Given the description of an element on the screen output the (x, y) to click on. 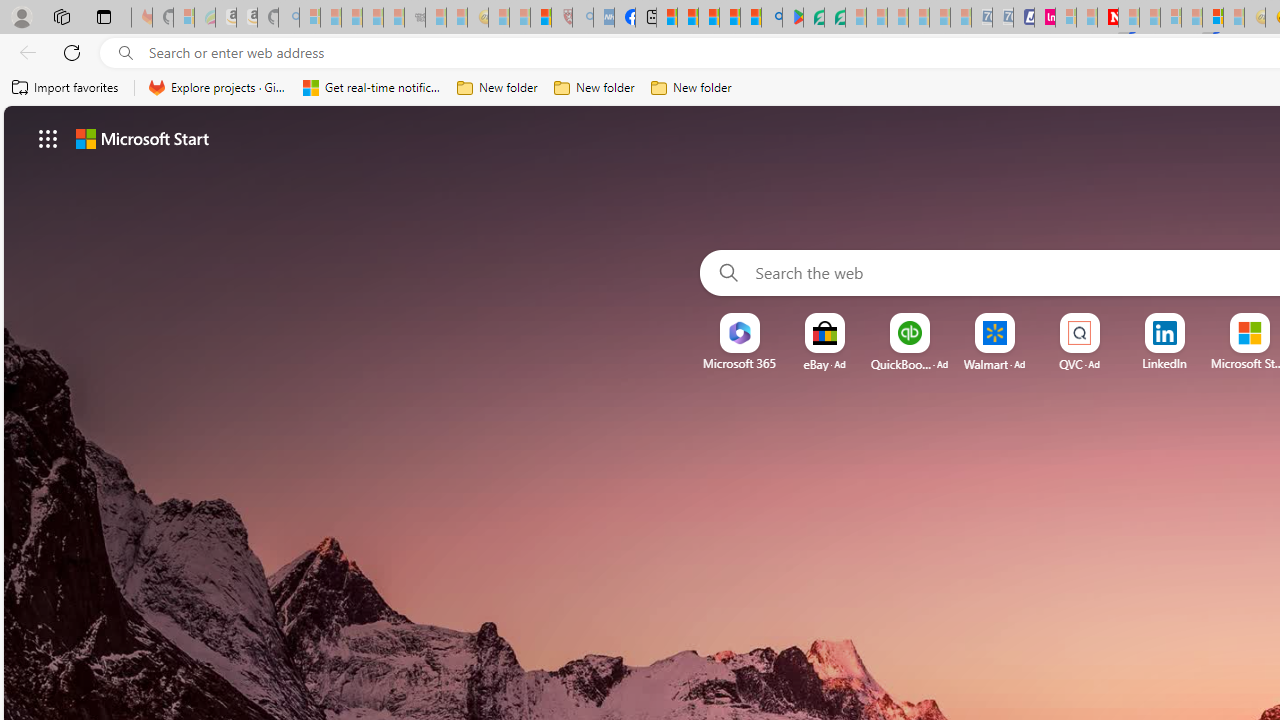
Combat Siege (414, 17)
Search icon (125, 53)
LinkedIn (1163, 363)
Local - MSN (541, 17)
Microsoft Word - consumer-privacy address update 2.2021 (834, 17)
